Given the description of an element on the screen output the (x, y) to click on. 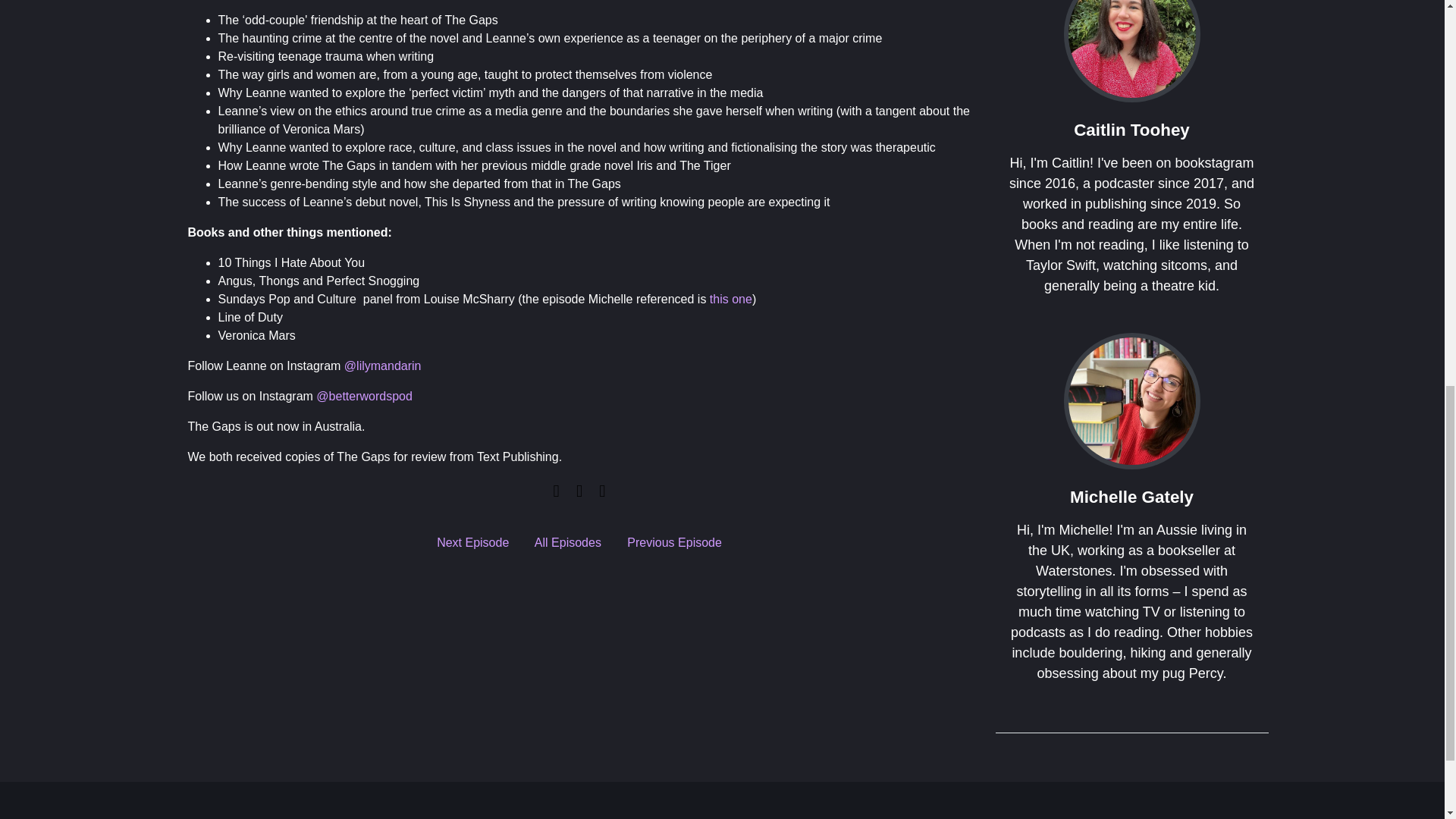
Next Episode (472, 542)
Previous Episode (674, 542)
All Episodes (567, 542)
this one (731, 298)
